Given the description of an element on the screen output the (x, y) to click on. 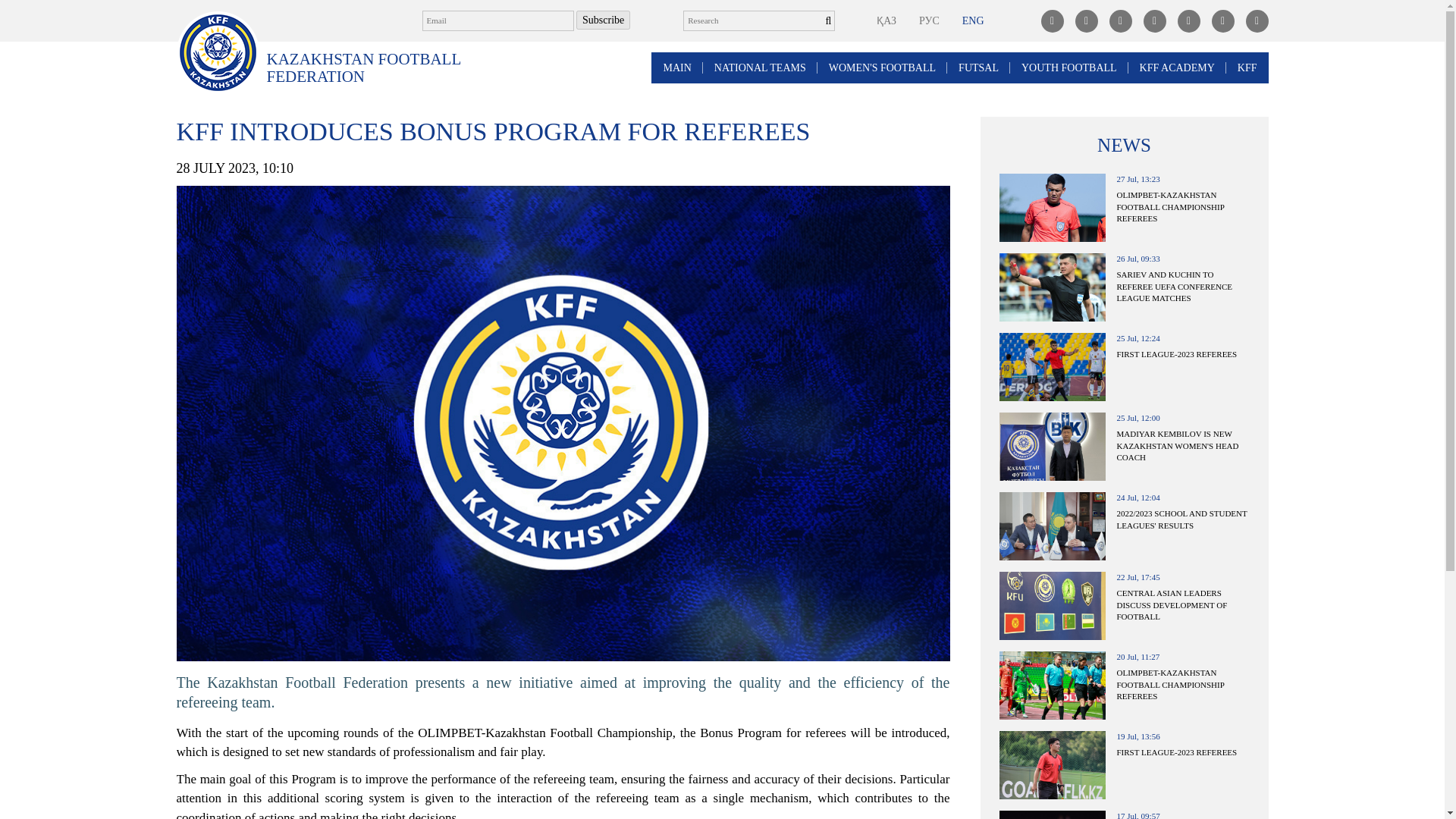
KAZAKHSTAN FOOTBALL FEDERATION (372, 67)
ENG (973, 20)
Subscribe (603, 20)
Subscribe (603, 20)
MAIN (675, 67)
NATIONAL TEAMS (759, 67)
WOMEN'S FOOTBALL (881, 67)
